Given the description of an element on the screen output the (x, y) to click on. 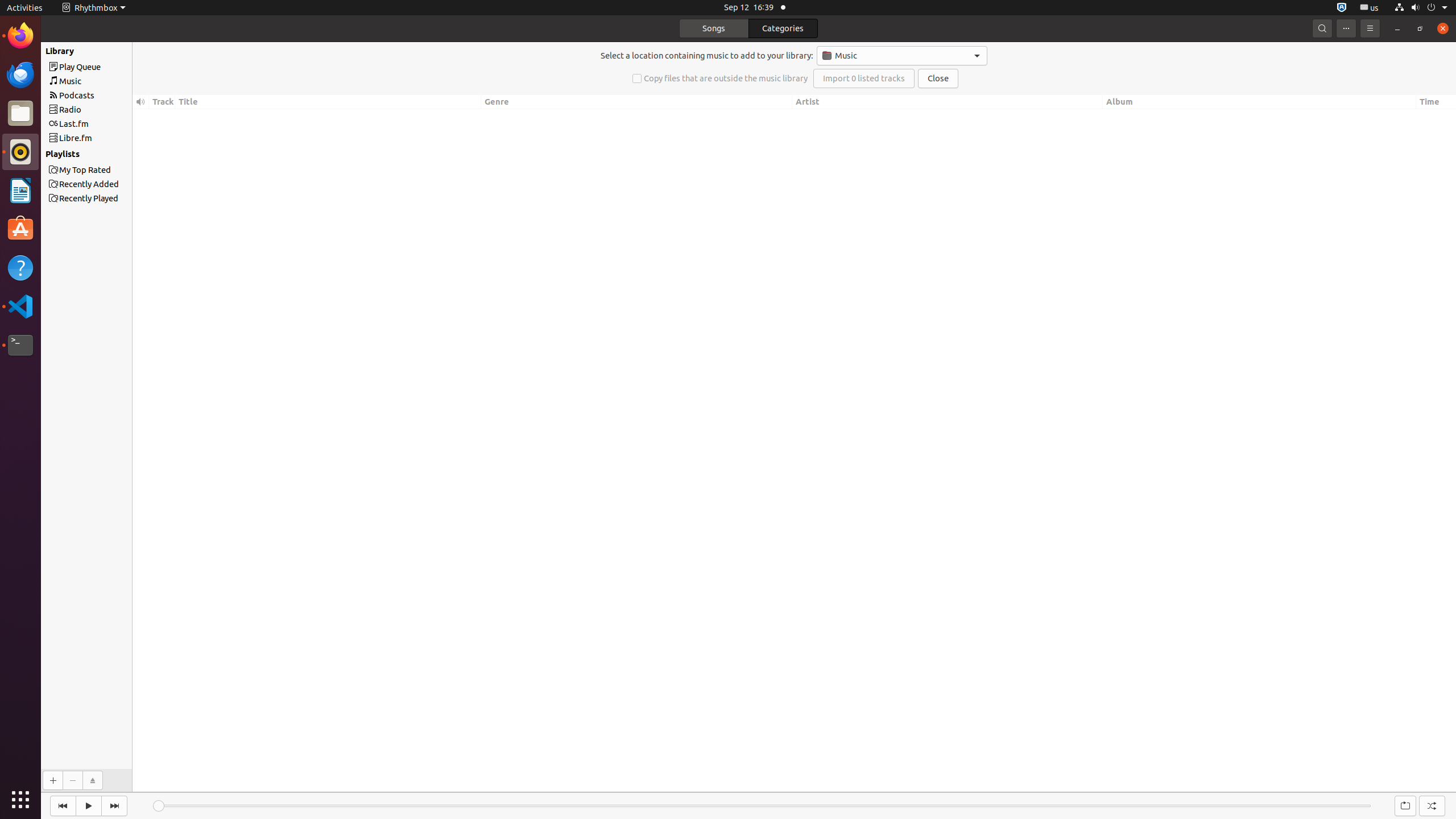
Library Element type: table-cell (100, 50)
Recently Added Element type: table-cell (106, 183)
Music Element type: combo-box (901, 55)
